Given the description of an element on the screen output the (x, y) to click on. 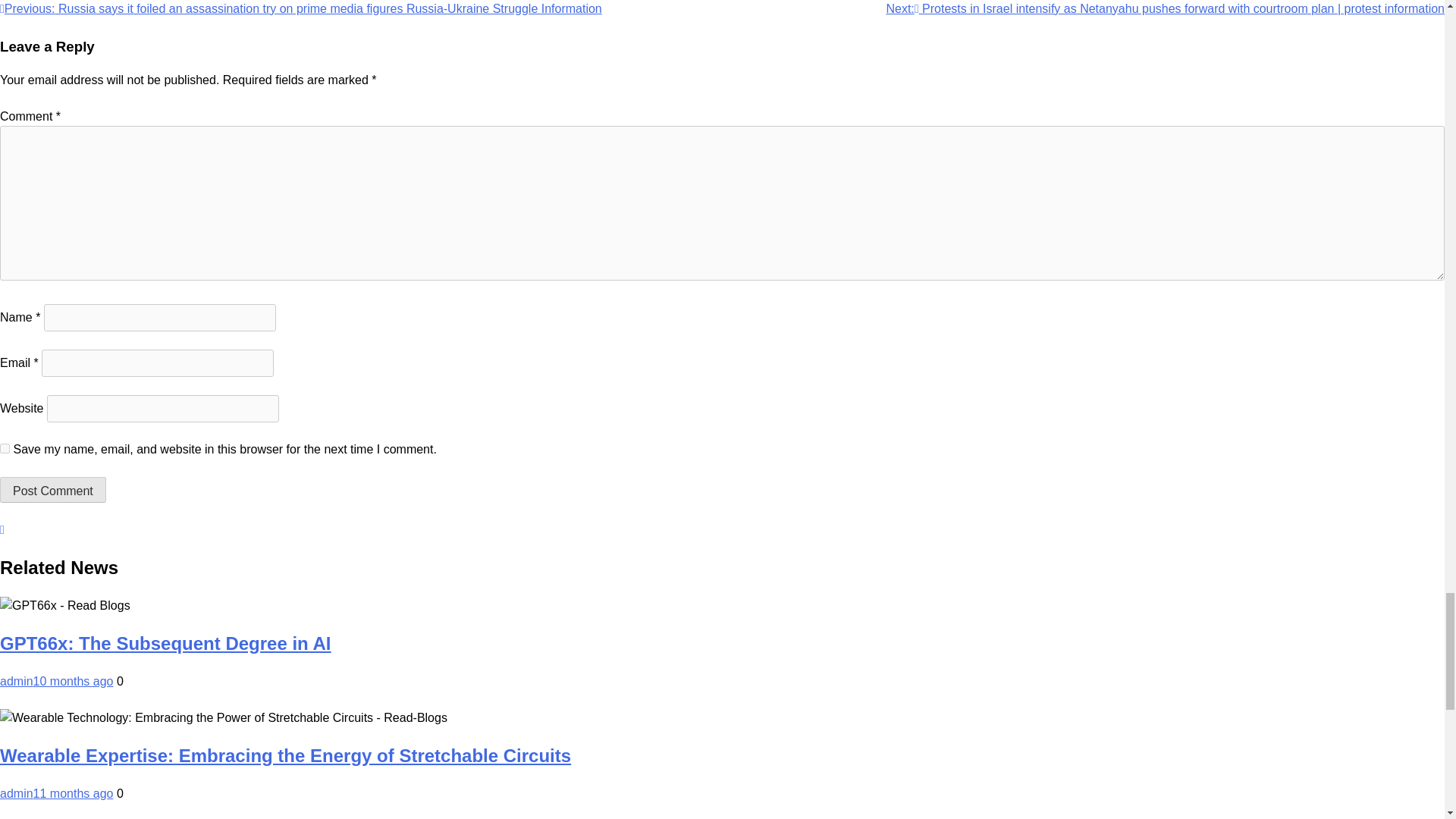
yes (5, 448)
Post Comment (53, 489)
